Given the description of an element on the screen output the (x, y) to click on. 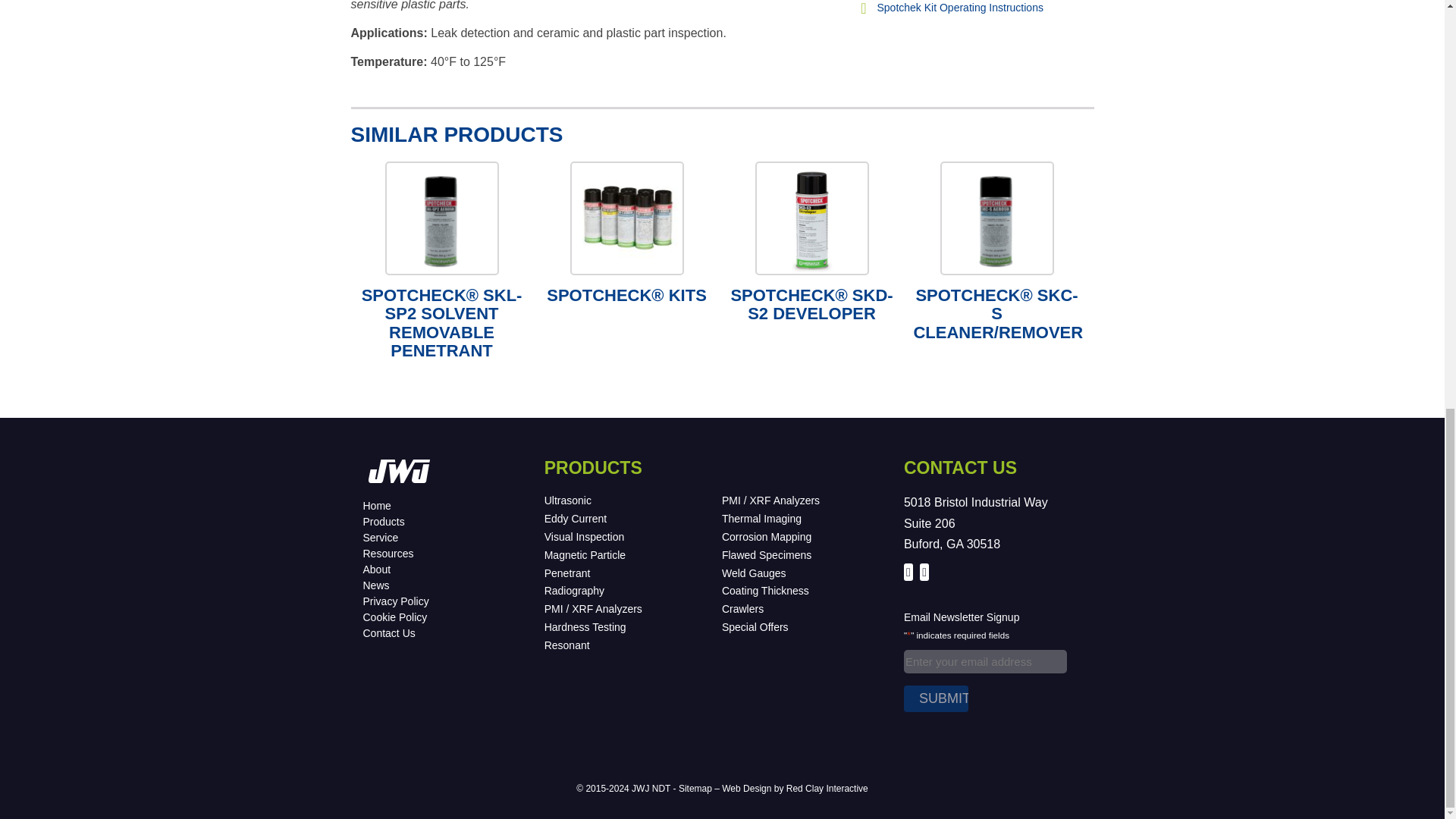
Submit (936, 698)
